Given the description of an element on the screen output the (x, y) to click on. 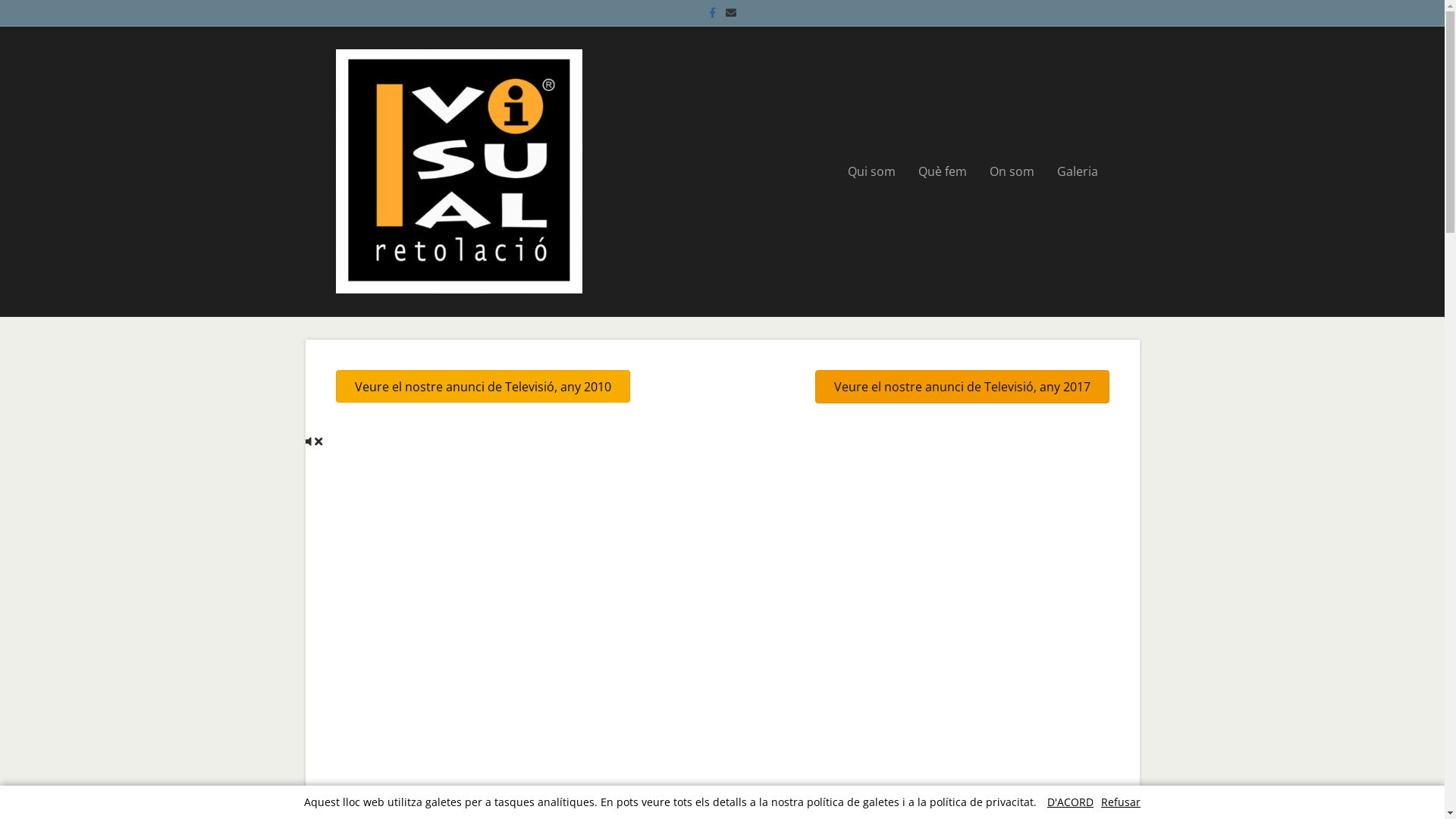
Galeria Element type: text (1076, 171)
Qui som Element type: text (870, 171)
Refusar Element type: text (1120, 801)
Email Element type: text (730, 11)
D'ACORD Element type: text (1070, 801)
Facebook Element type: text (712, 11)
On som Element type: text (1011, 171)
